Given the description of an element on the screen output the (x, y) to click on. 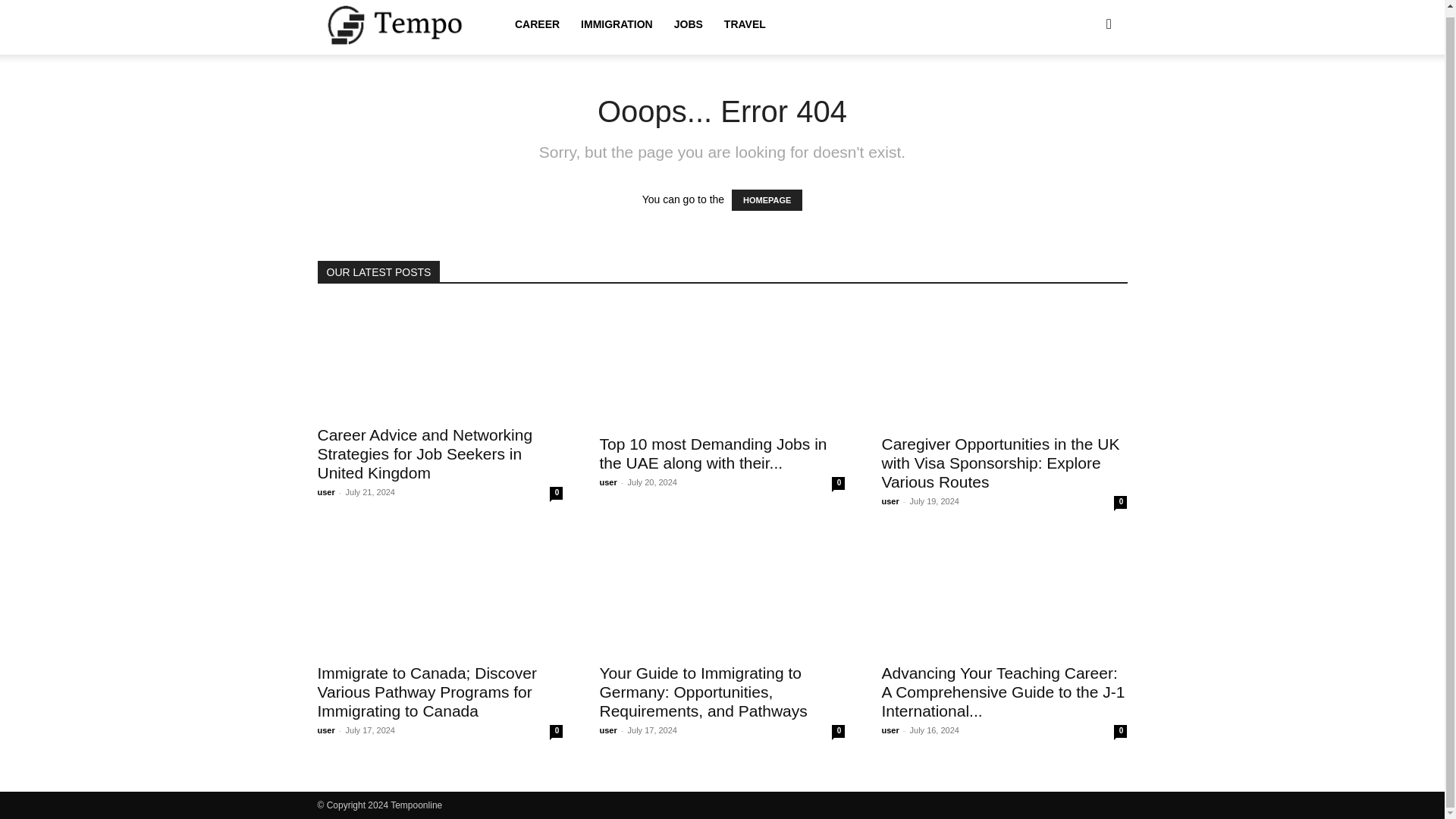
user (606, 481)
0 (1119, 730)
0 (1119, 502)
Top 10 most Demanding Jobs in the UAE along with their... (712, 452)
